Given the description of an element on the screen output the (x, y) to click on. 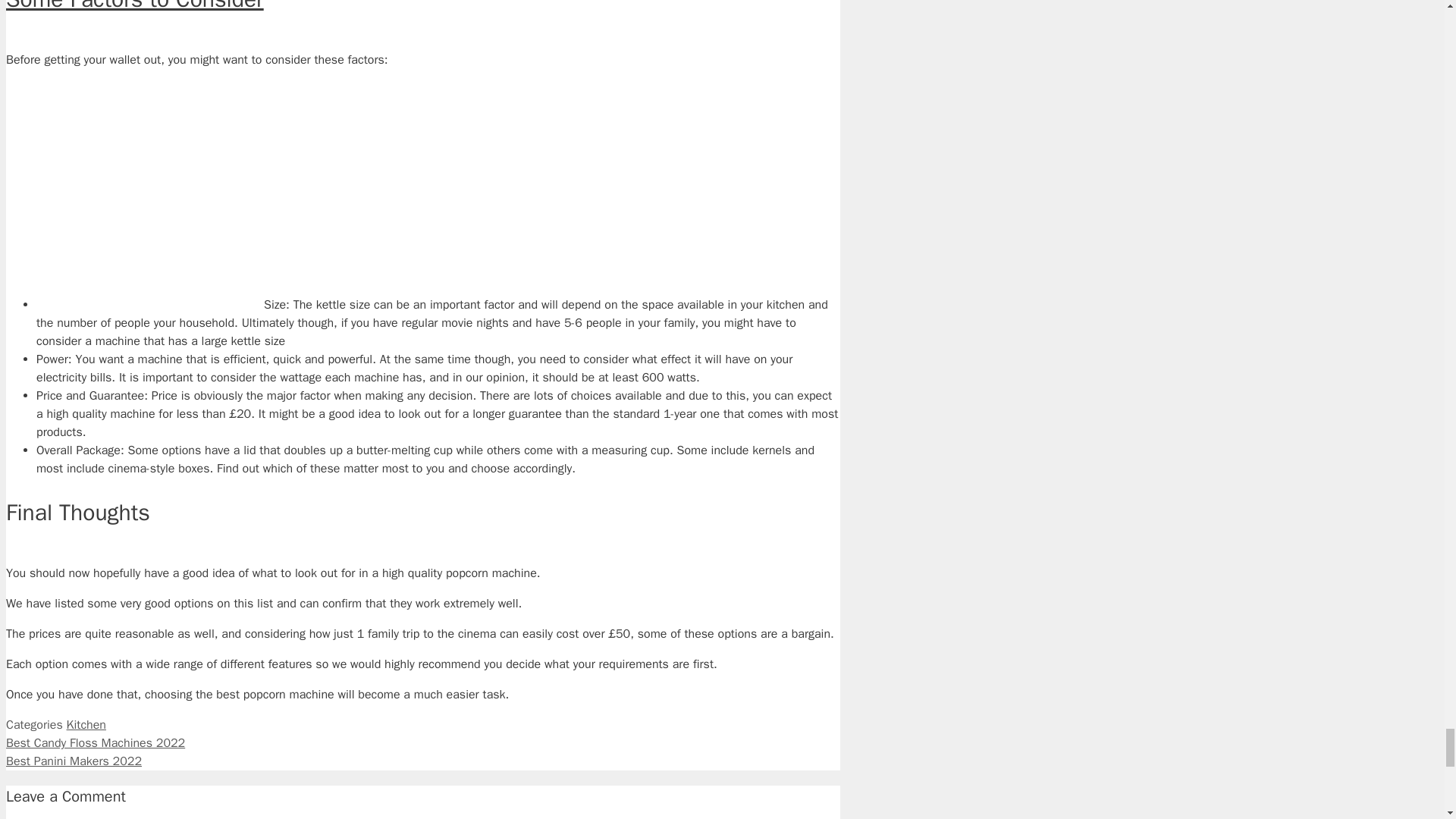
Kitchen (86, 724)
Best Candy Floss Machines 2022 (94, 743)
Best Panini Makers 2022 (73, 761)
